Given the description of an element on the screen output the (x, y) to click on. 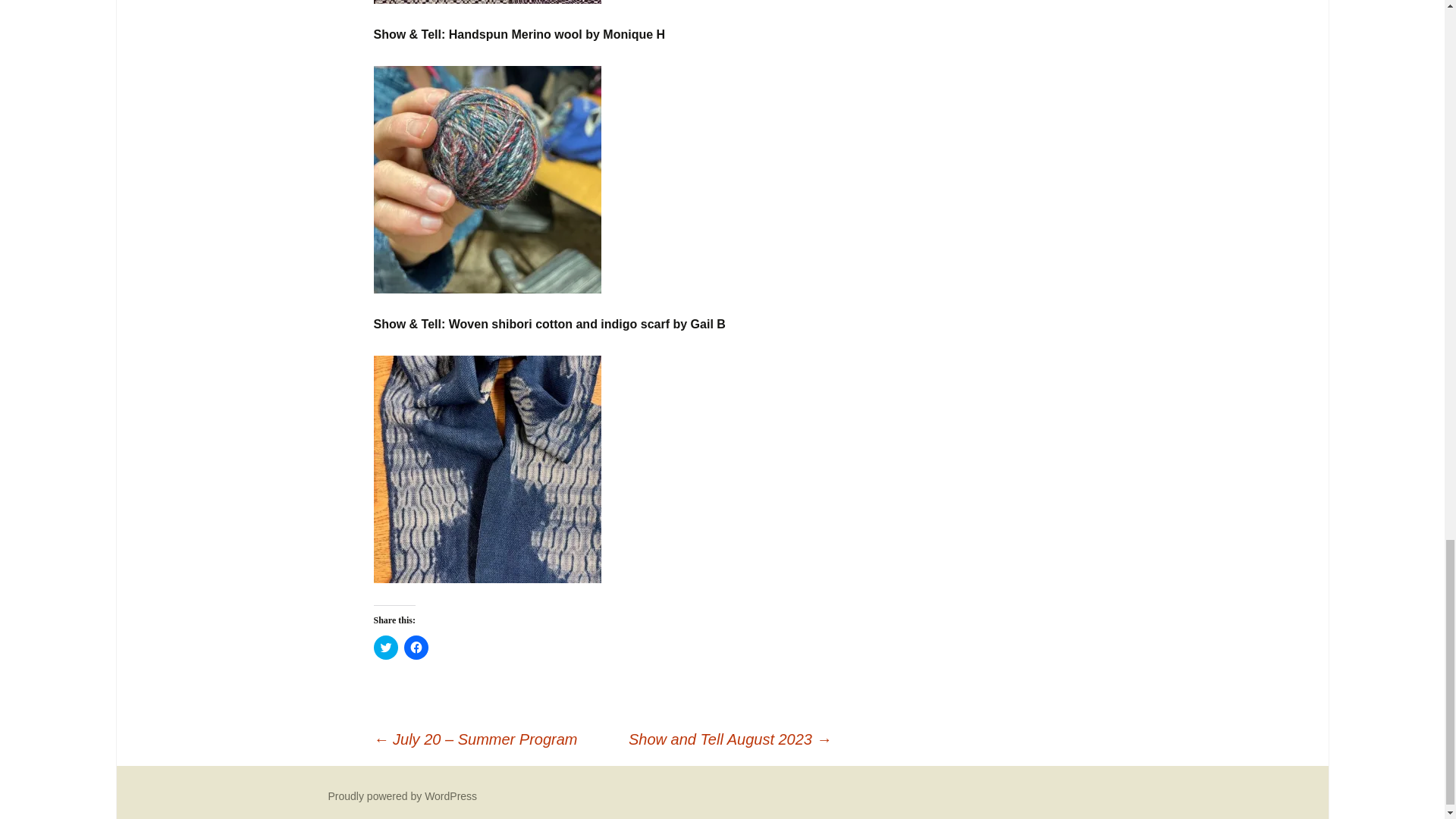
Click to share on Twitter (384, 647)
Click to share on Facebook (415, 647)
